Given the description of an element on the screen output the (x, y) to click on. 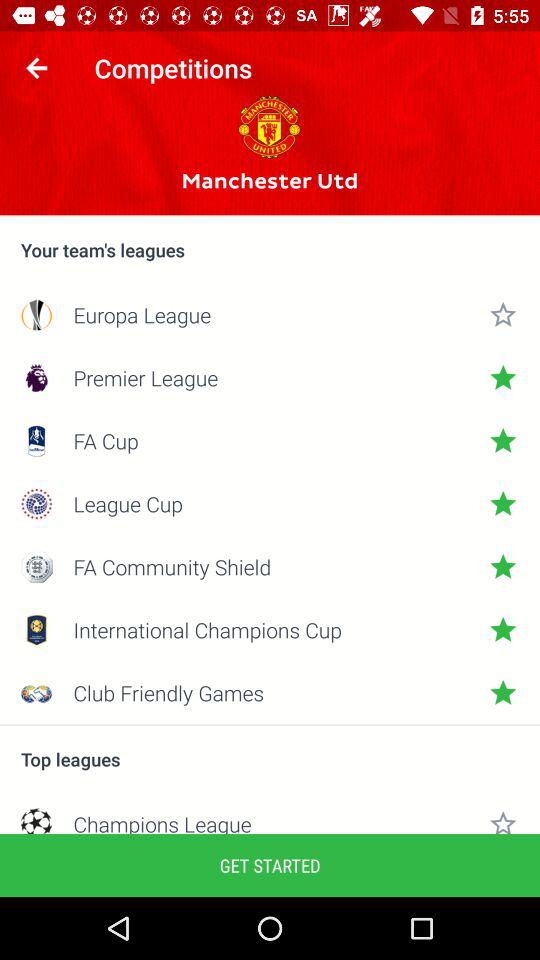
tap the your team s (270, 249)
